Given the description of an element on the screen output the (x, y) to click on. 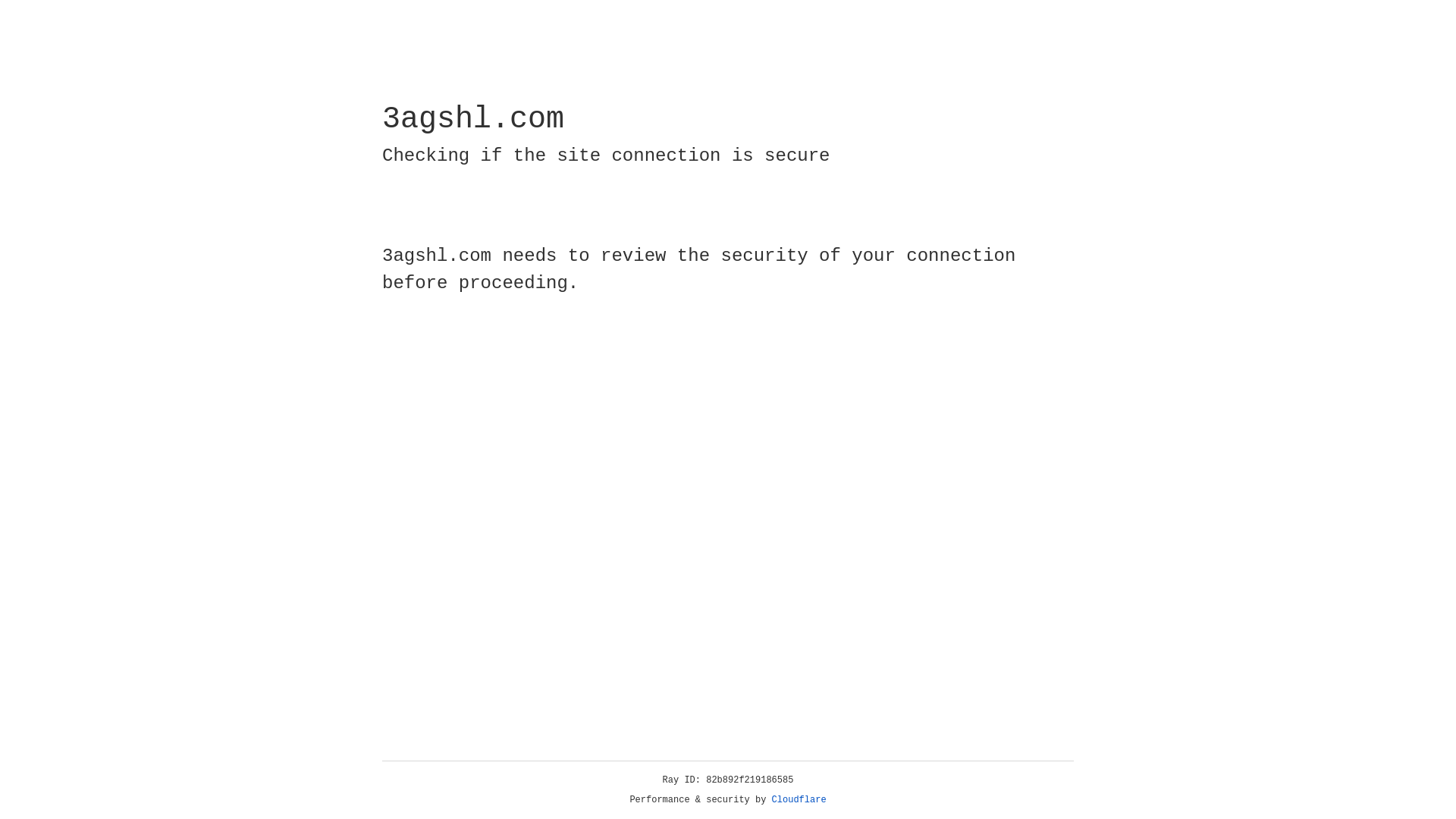
Cloudflare Element type: text (798, 799)
